Given the description of an element on the screen output the (x, y) to click on. 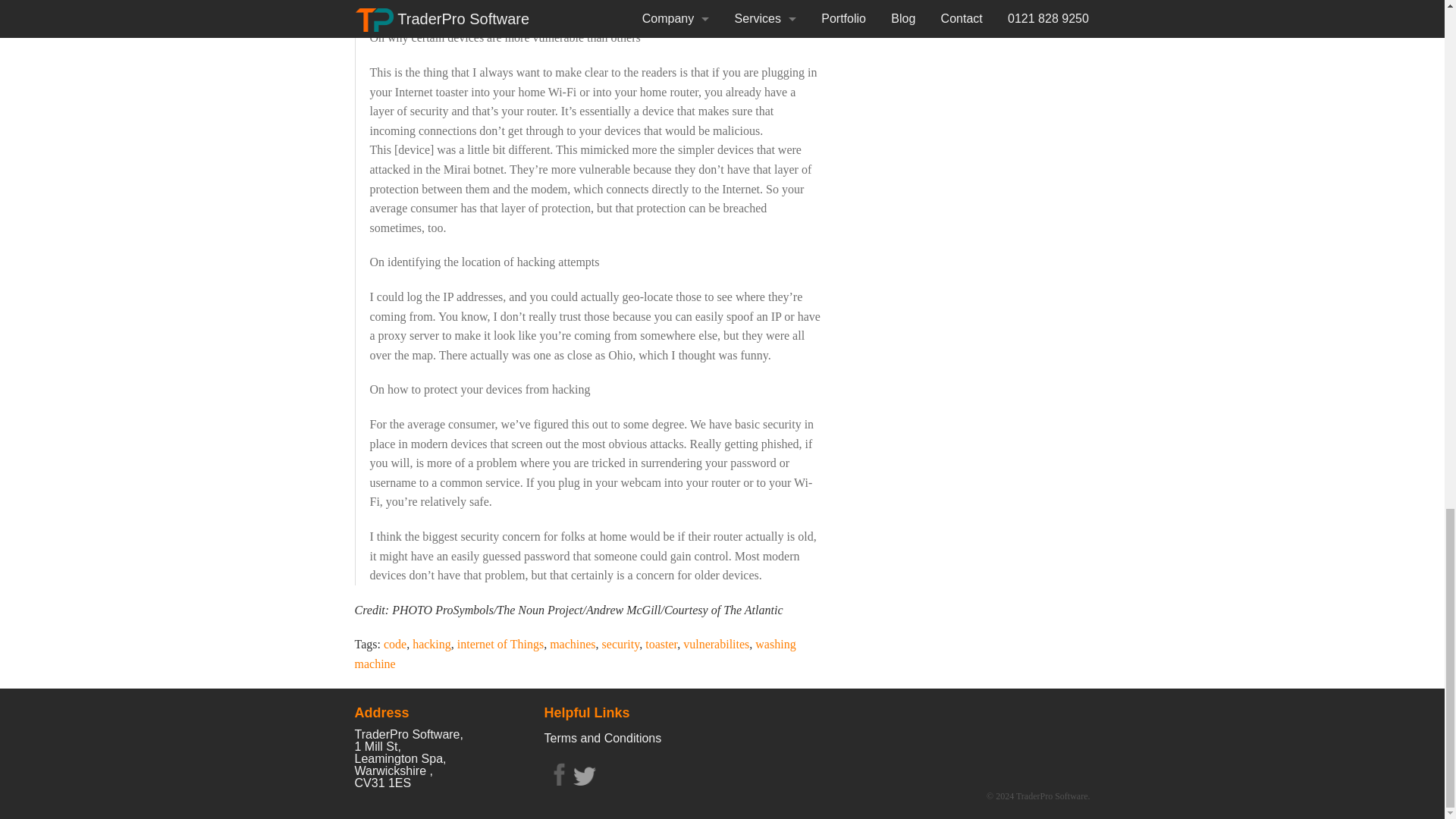
toaster (661, 644)
code (395, 644)
security (621, 644)
vulnerabilites (715, 644)
machines (572, 644)
washing machine (575, 654)
hacking (431, 644)
internet of Things (500, 644)
